Given the description of an element on the screen output the (x, y) to click on. 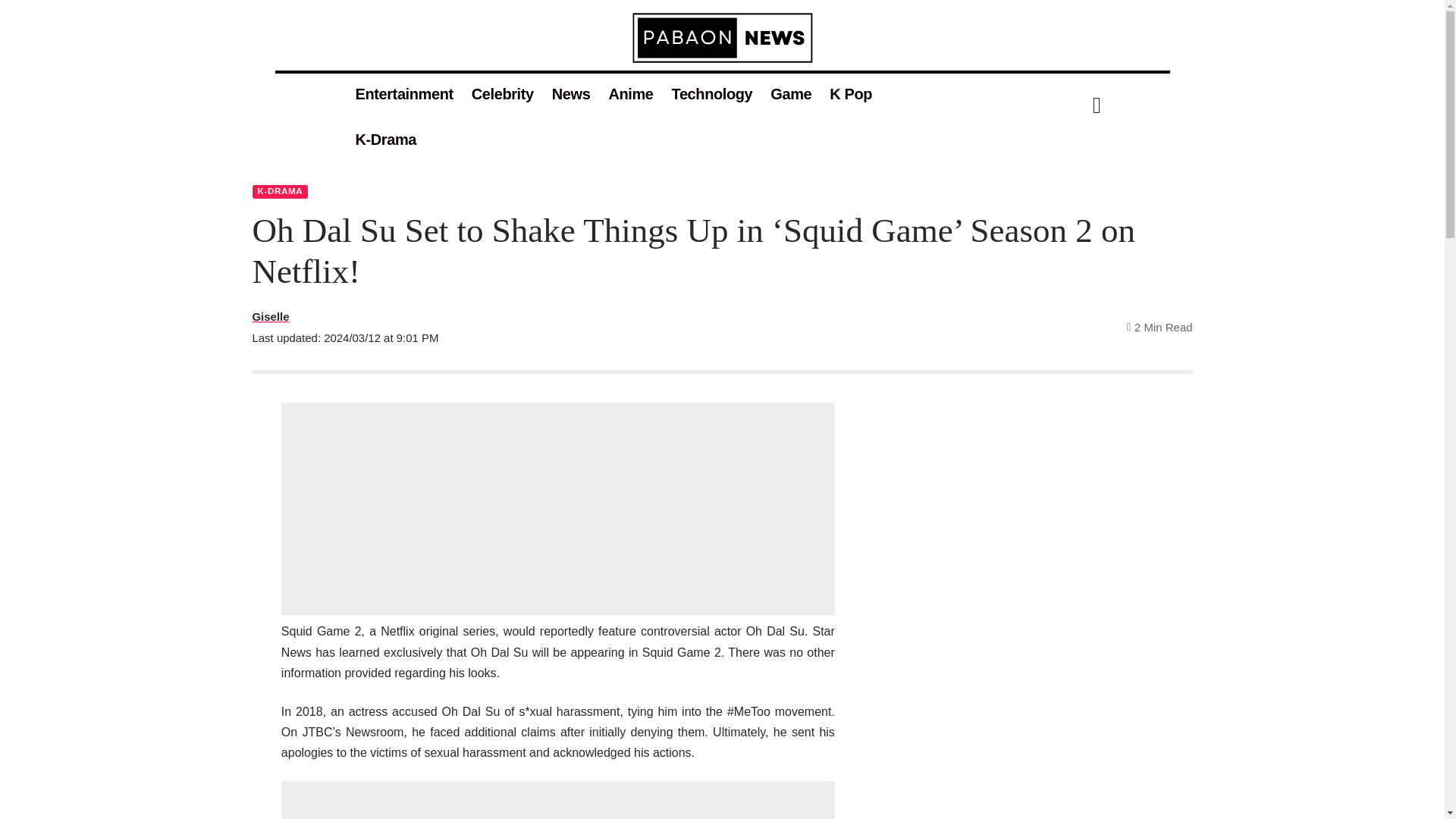
Anime (630, 94)
K Pop (850, 94)
Giselle (269, 315)
News (571, 94)
Entertainment (403, 94)
Game (791, 94)
Advertisement (557, 800)
Technology (711, 94)
Advertisement (557, 508)
Celebrity (503, 94)
